Given the description of an element on the screen output the (x, y) to click on. 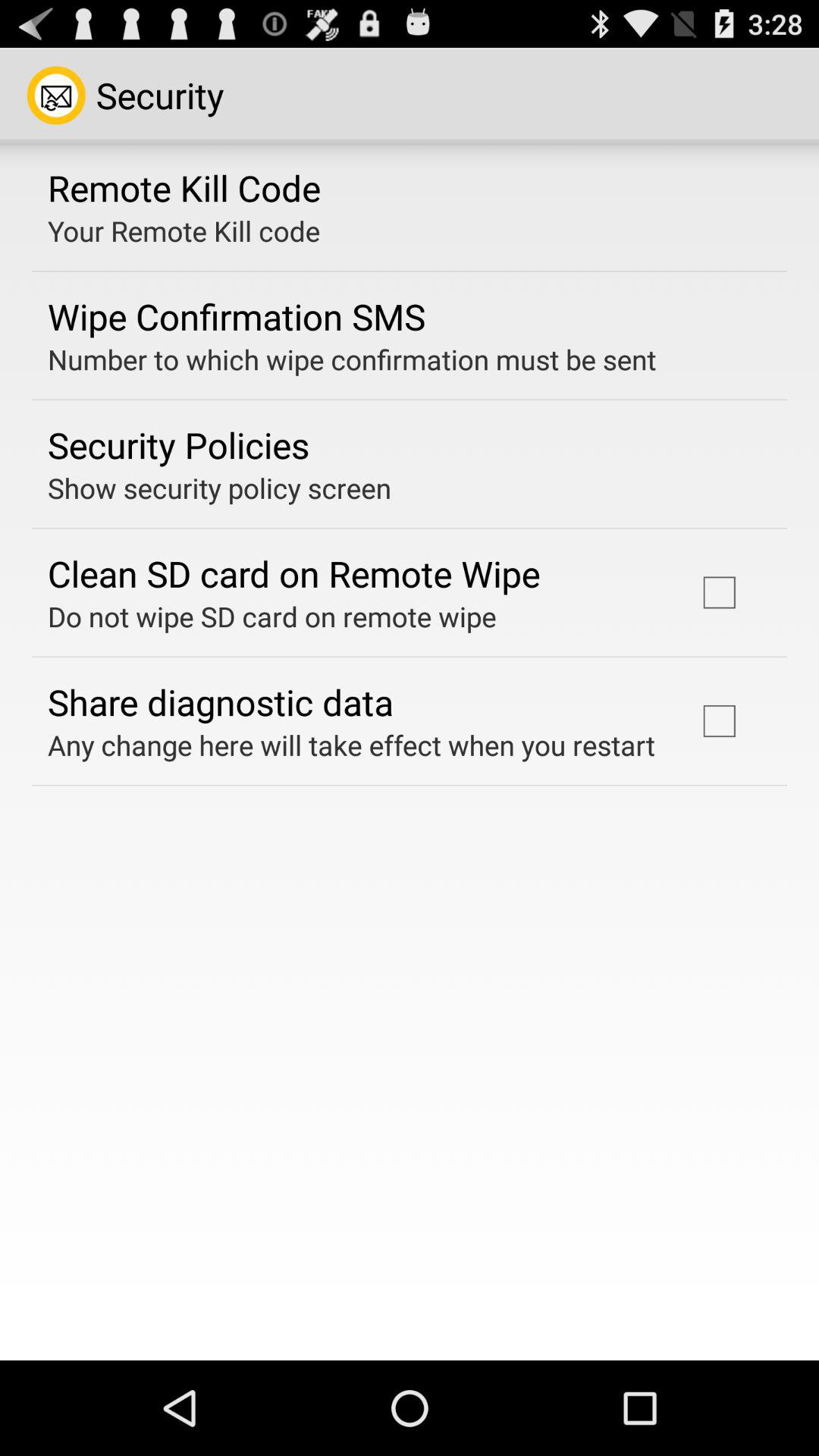
select item below the do not wipe app (220, 701)
